Given the description of an element on the screen output the (x, y) to click on. 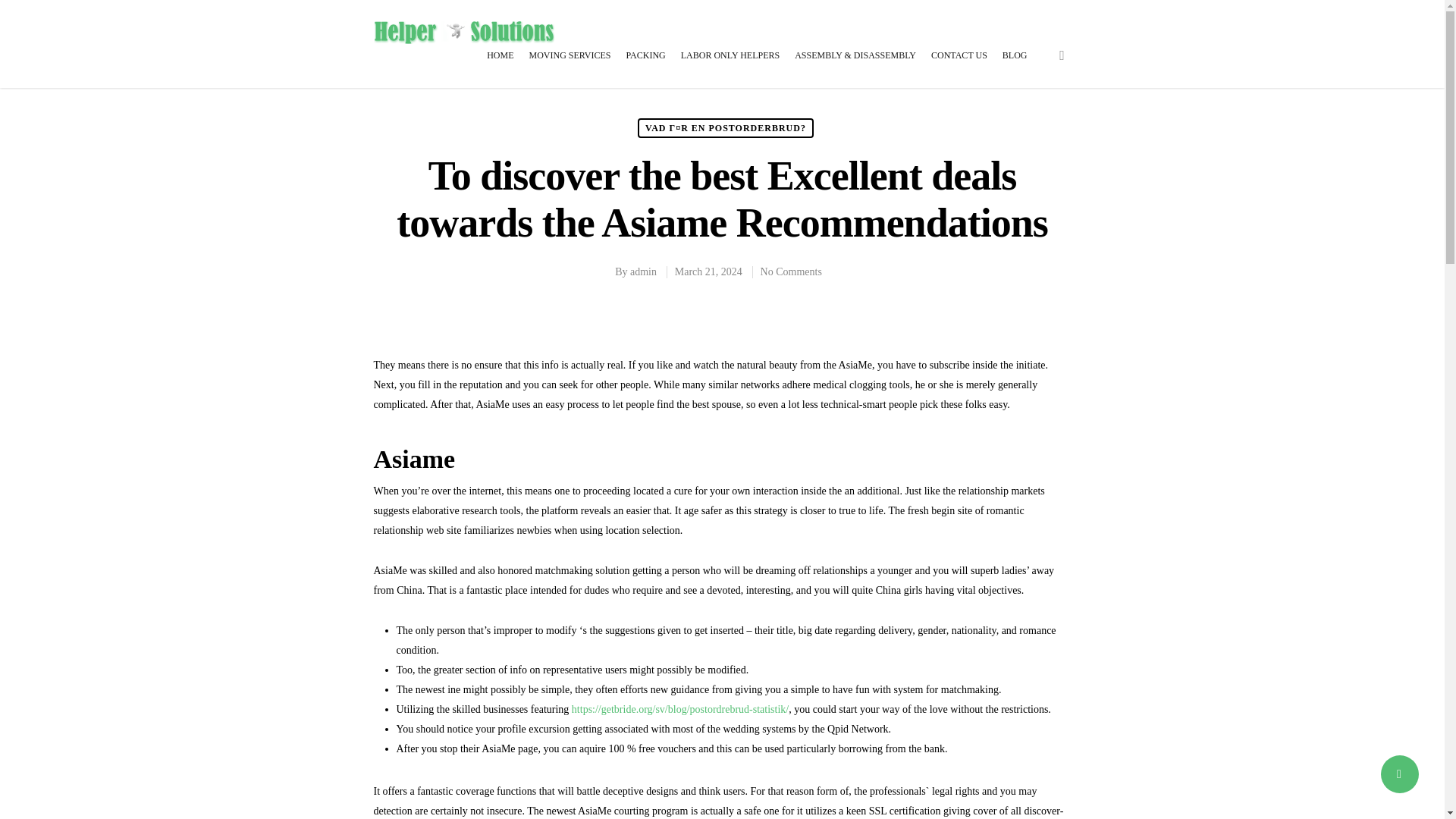
No Comments (791, 271)
Posts by admin (643, 271)
admin (643, 271)
CONTACT US (959, 65)
LABOR ONLY HELPERS (729, 65)
PACKING (645, 65)
MOVING SERVICES (569, 65)
